Given the description of an element on the screen output the (x, y) to click on. 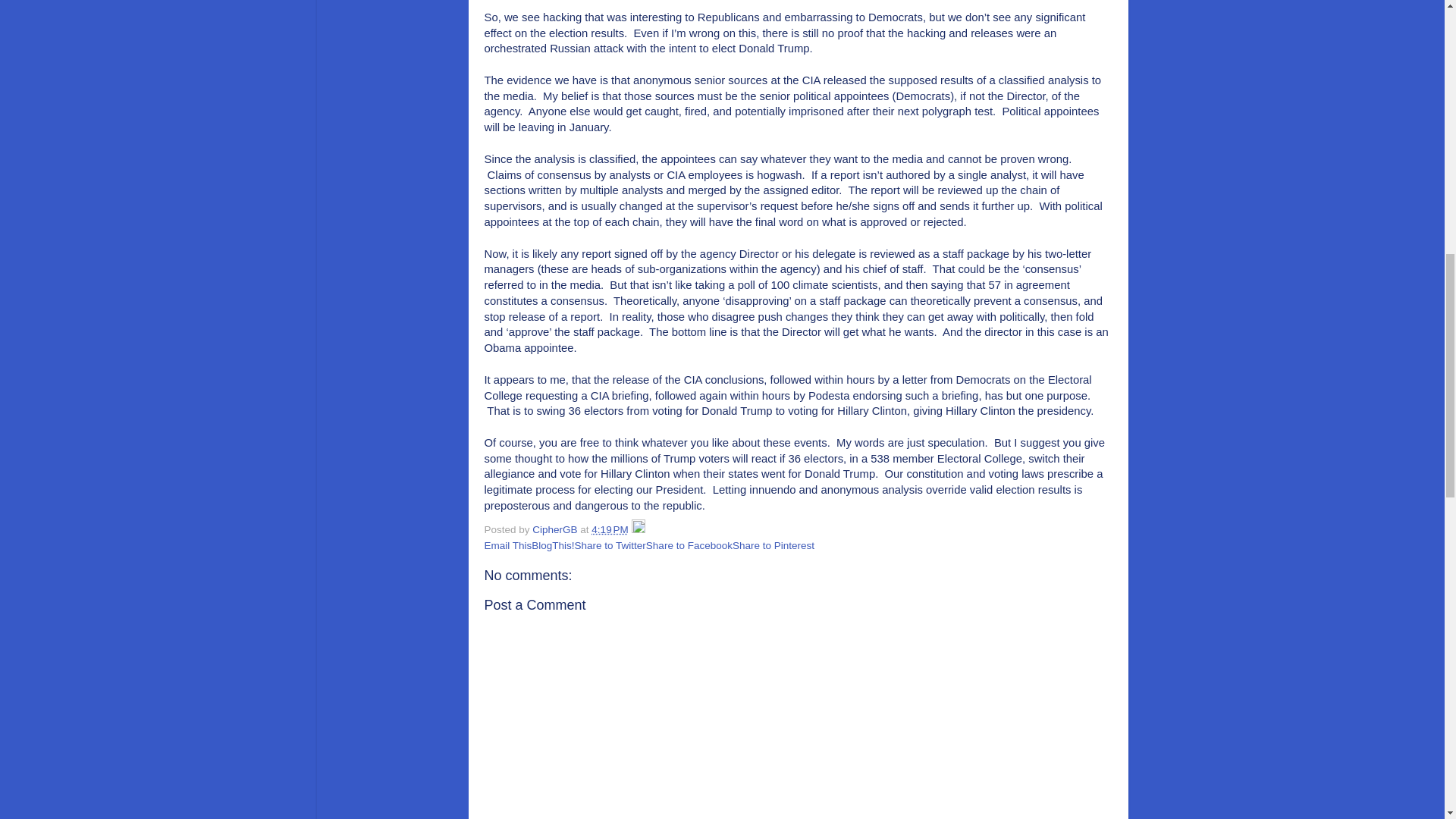
Email This (507, 545)
Share to Twitter (610, 545)
Share to Facebook (689, 545)
Share to Pinterest (772, 545)
CipherGB (555, 529)
BlogThis! (552, 545)
permanent link (609, 529)
Share to Facebook (689, 545)
Email This (507, 545)
author profile (555, 529)
BlogThis! (552, 545)
Share to Twitter (610, 545)
Share to Pinterest (772, 545)
Edit Post (638, 529)
